Given the description of an element on the screen output the (x, y) to click on. 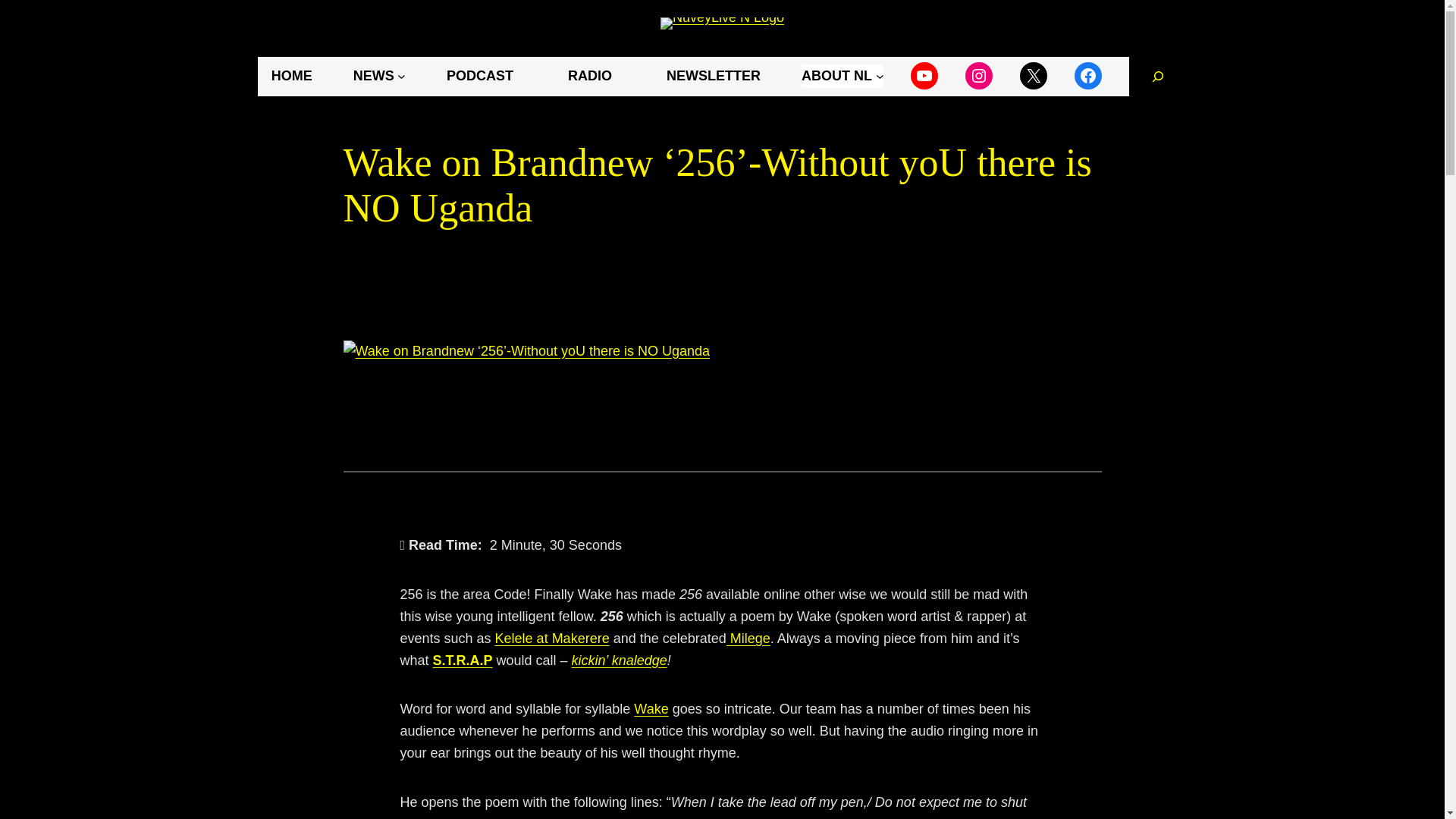
NEWS (379, 75)
PODCAST (479, 76)
Kelele at Makerere (552, 638)
HOME (291, 76)
Instagram (978, 75)
Wake (650, 708)
Facebook (1088, 75)
RADIO (590, 76)
ABOUT NL (842, 75)
Milege (748, 638)
